Given the description of an element on the screen output the (x, y) to click on. 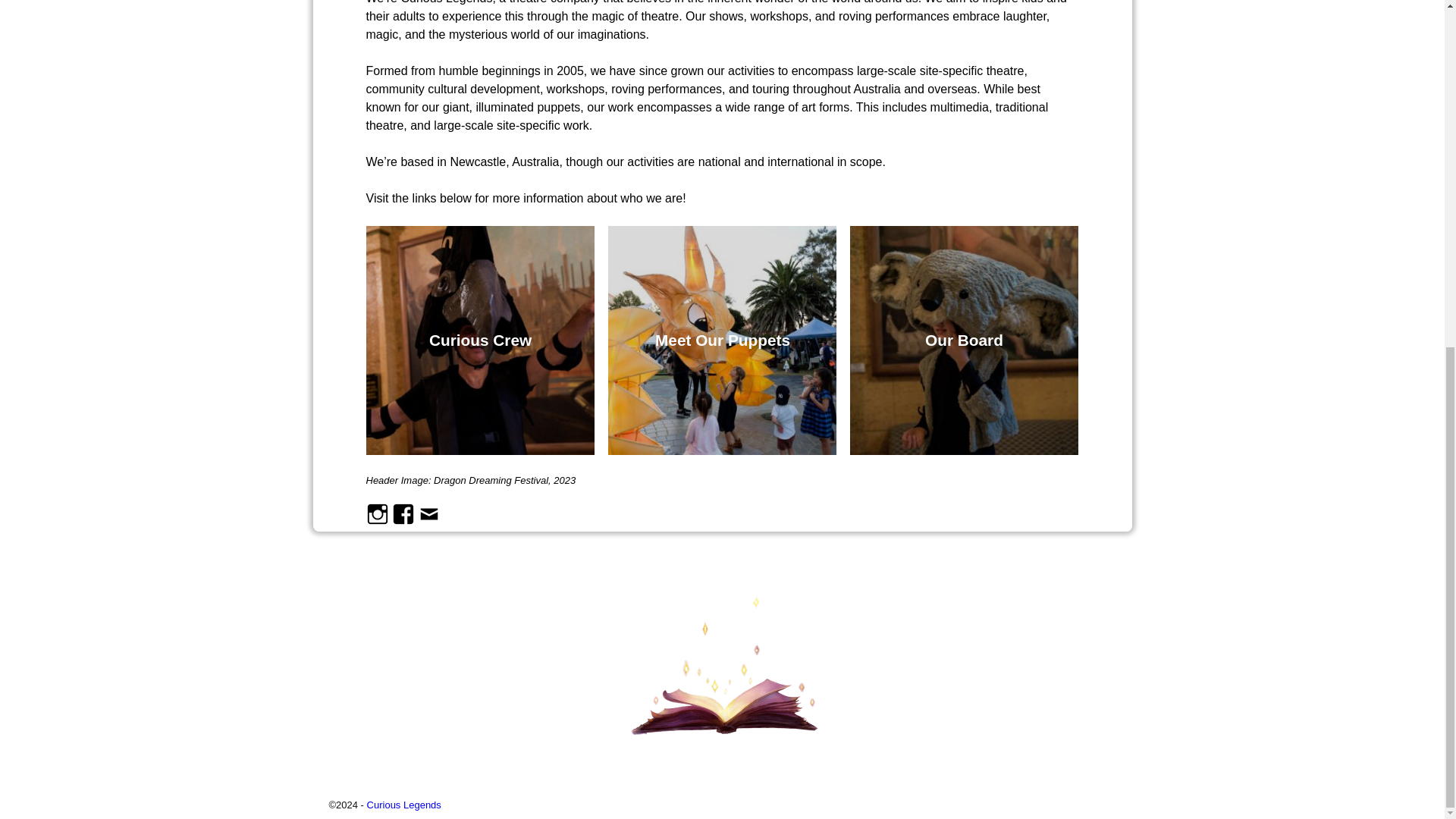
Curious Crew (479, 340)
Meet Our Puppets (721, 340)
Facebook: social networking (402, 511)
Curious Legends (403, 804)
Meet Our Puppets (721, 340)
Our Board (964, 340)
Curious Crew (479, 340)
Instagram: Capture and Share the World's Moments (376, 511)
Curious Legends (403, 804)
Our Board (964, 340)
Send Email to this Site's Admin (429, 511)
